Given the description of an element on the screen output the (x, y) to click on. 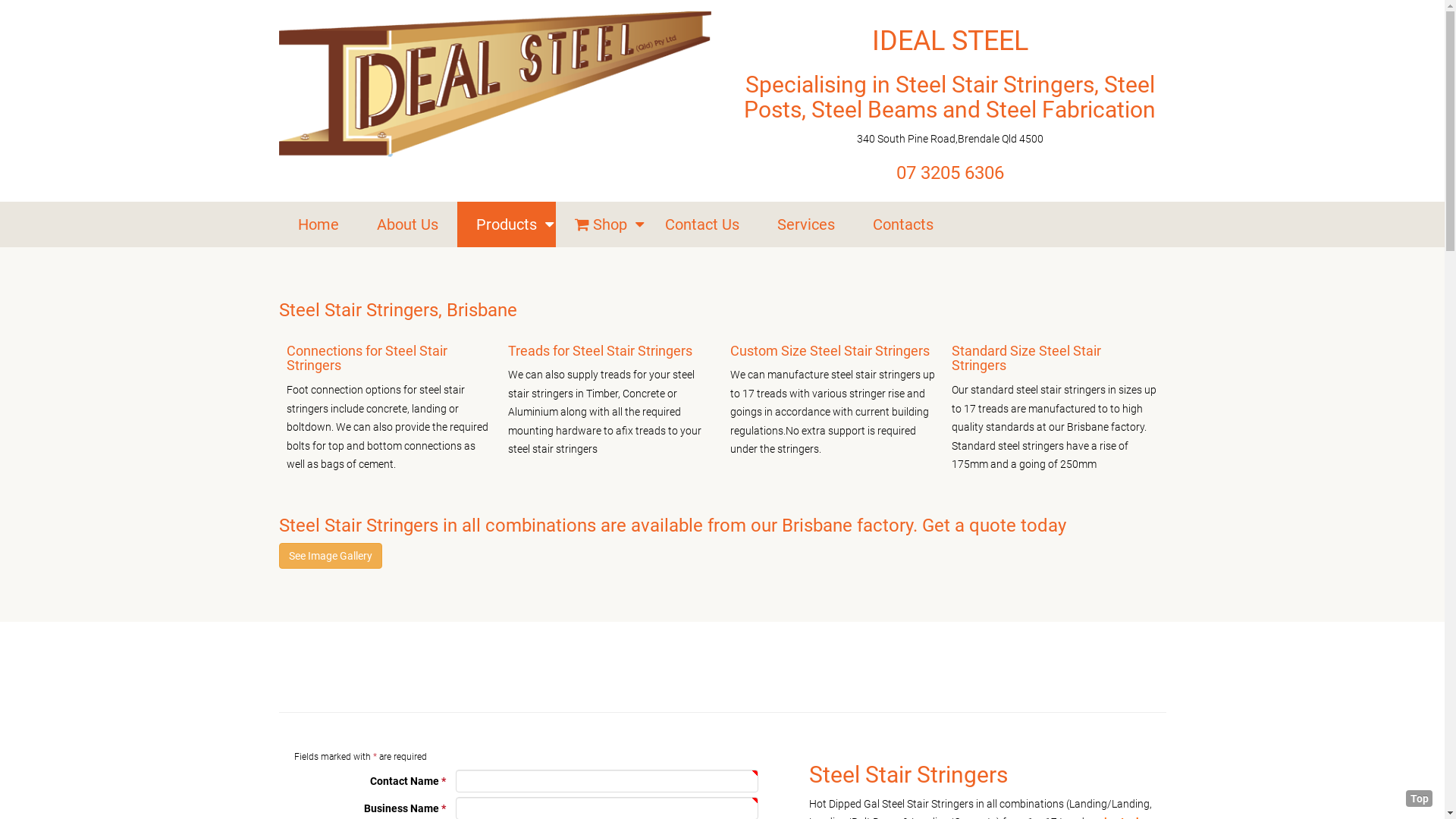
Top Element type: text (1418, 798)
Ideal Steel - stringers, posts and beams - Brisbane Element type: hover (495, 83)
Contact Us Element type: text (702, 224)
Services Element type: text (805, 224)
Contacts Element type: text (902, 224)
About Us Element type: text (407, 224)
See Image Gallery Element type: text (330, 555)
Products Element type: text (505, 224)
Shop Element type: text (600, 224)
Home Element type: text (318, 224)
07 3205 6306 Element type: text (950, 172)
